Given the description of an element on the screen output the (x, y) to click on. 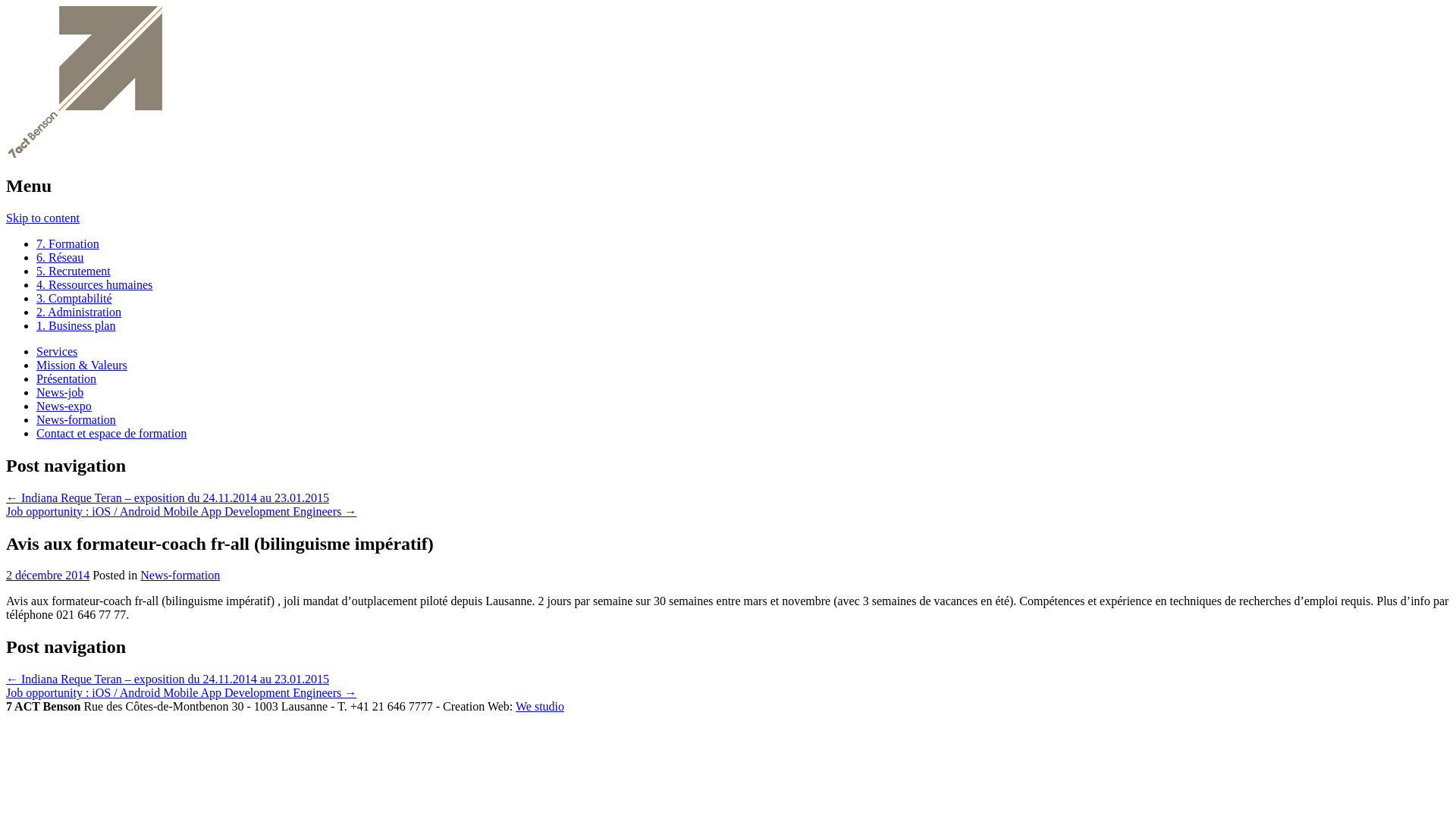
Mission & Valeurs Element type: text (81, 364)
Services Element type: text (56, 351)
News-formation Element type: text (76, 419)
News-formation Element type: text (179, 574)
Contact et espace de formation Element type: text (111, 432)
We studio Element type: text (539, 705)
News-expo Element type: text (63, 405)
5. Recrutement Element type: text (73, 270)
2. Administration Element type: text (78, 311)
7act Element type: hover (84, 153)
News-job Element type: text (59, 391)
4. Ressources humaines Element type: text (94, 284)
Skip to content Element type: text (42, 217)
7. Formation Element type: text (67, 243)
1. Business plan Element type: text (75, 325)
